Given the description of an element on the screen output the (x, y) to click on. 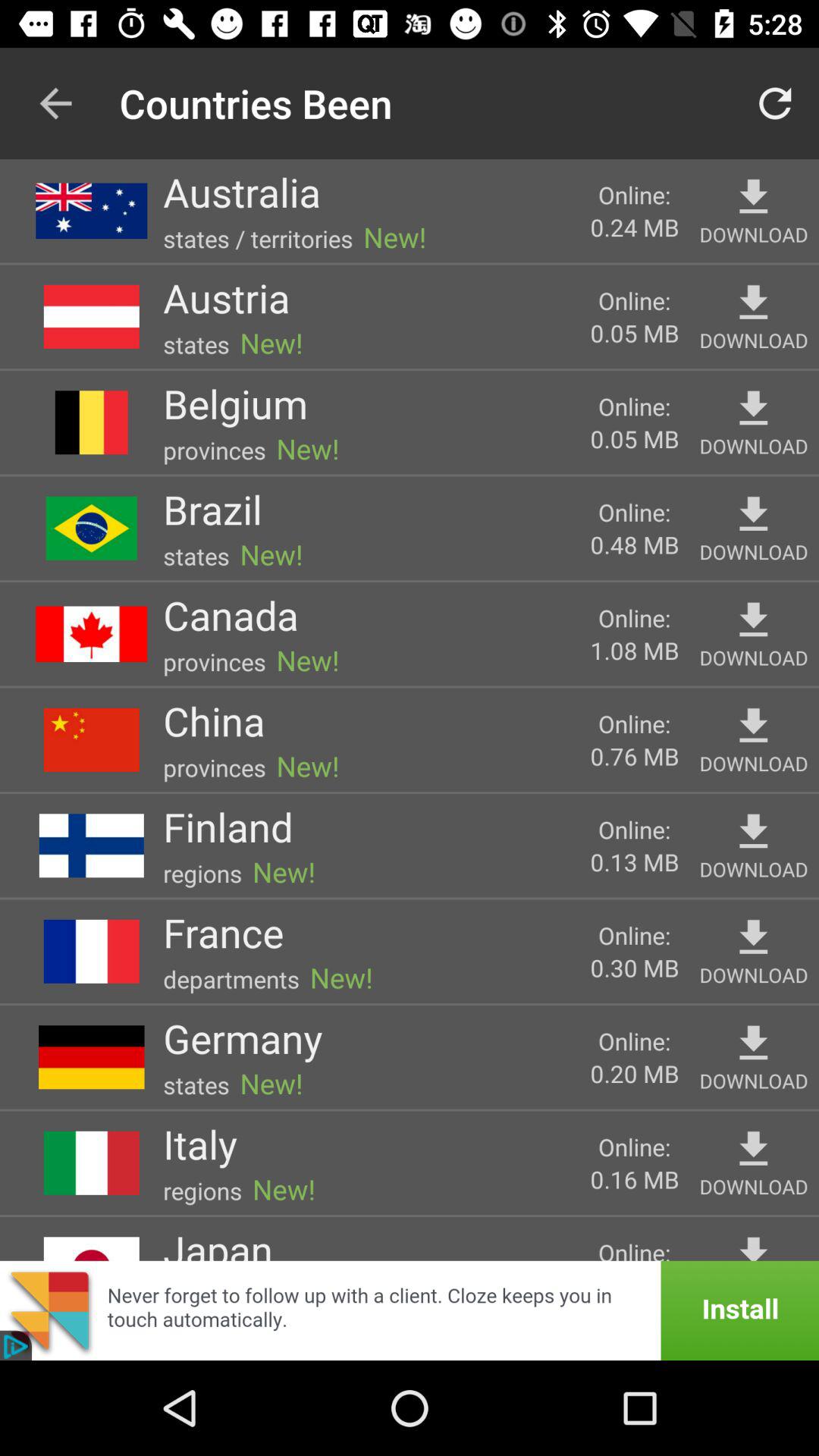
turn off the icon above the new! (235, 403)
